Given the description of an element on the screen output the (x, y) to click on. 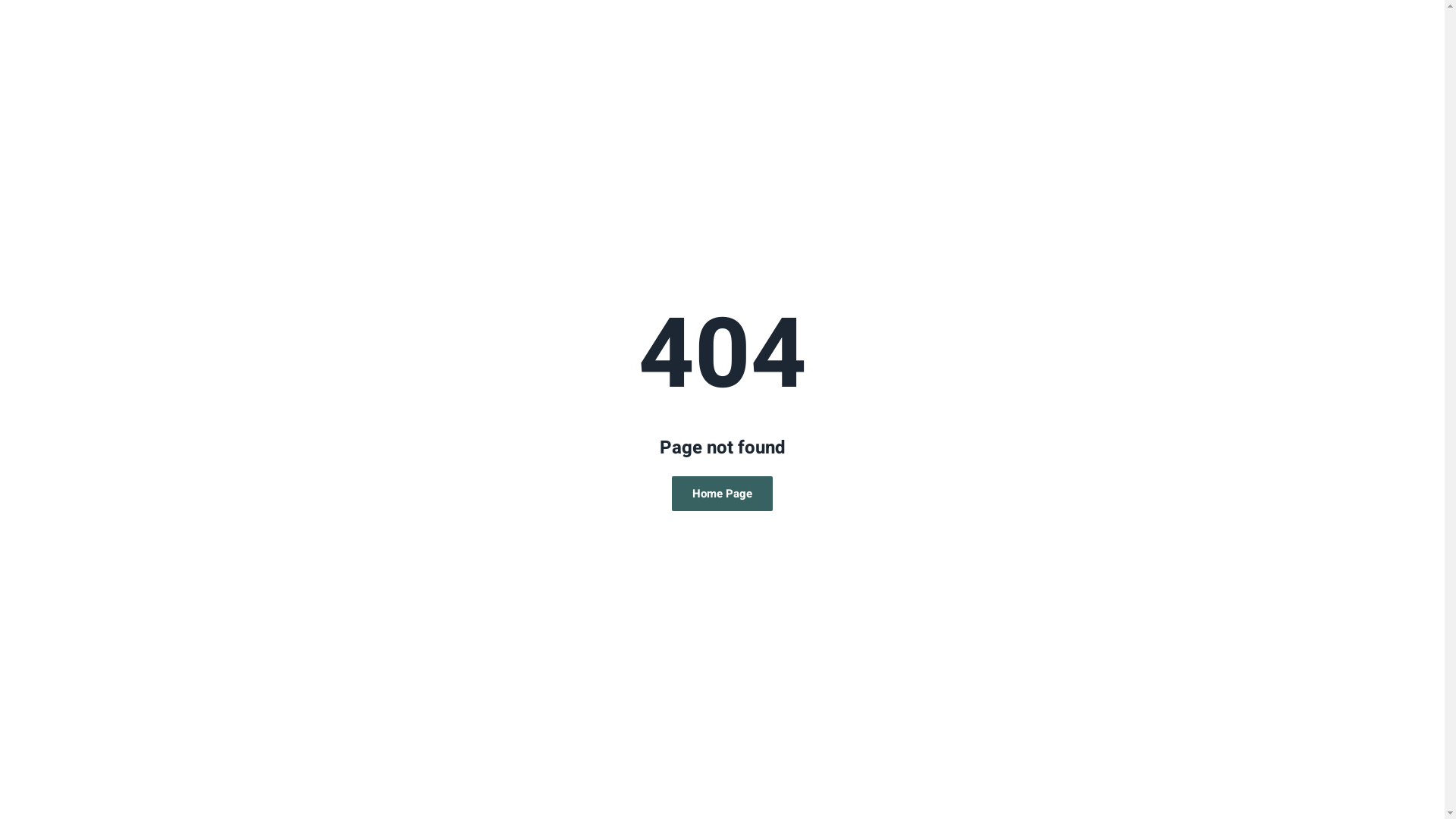
Home Page Element type: text (721, 493)
